Given the description of an element on the screen output the (x, y) to click on. 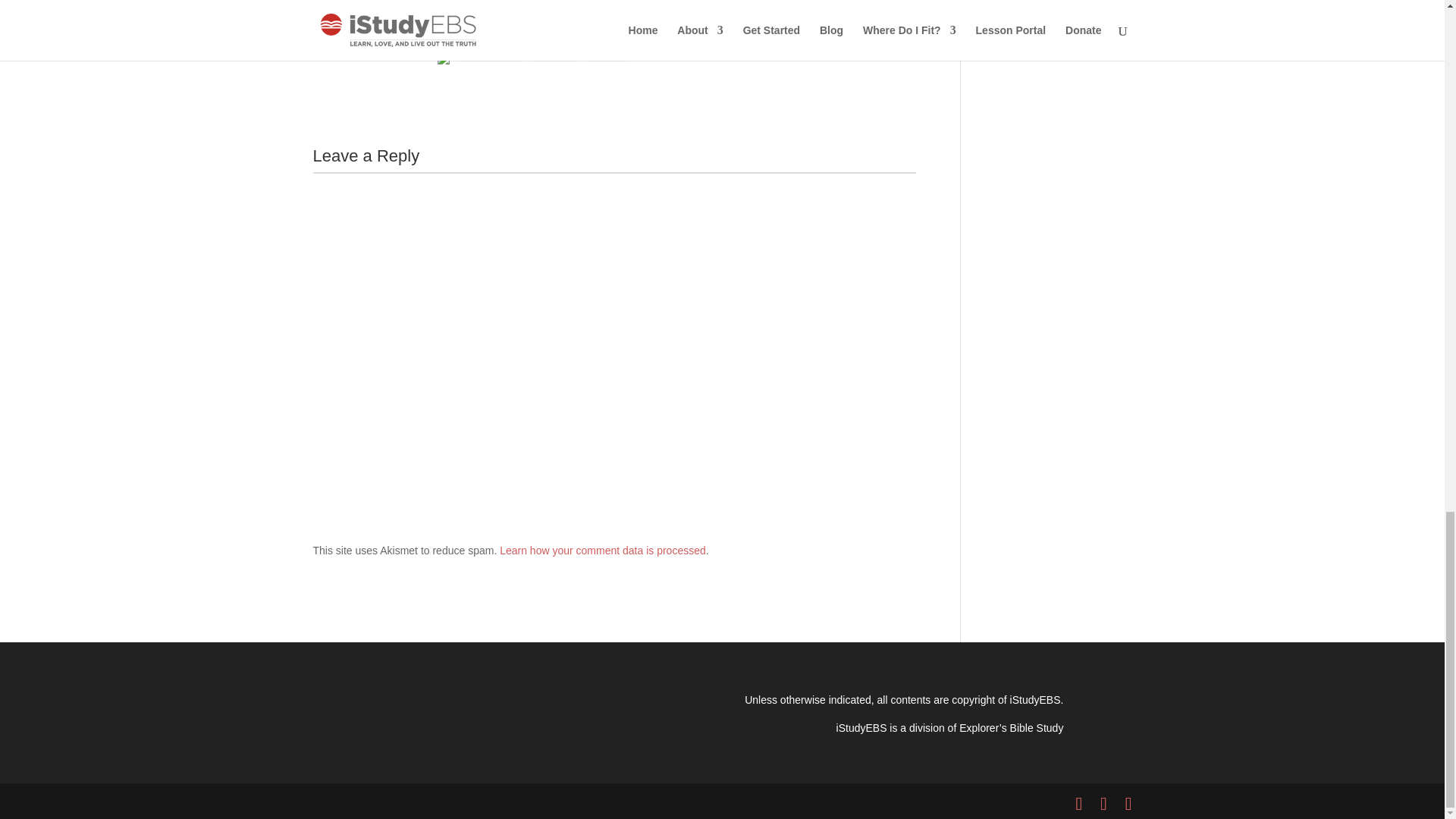
Share on Tumblr (392, 51)
Click to share on Reddit (553, 52)
Learn how your comment data is processed (602, 550)
Reddit (553, 52)
WhatsApp (488, 52)
More (606, 52)
Share on Tumblr (392, 51)
Tweet (332, 51)
Click to share on WhatsApp (488, 52)
